Given the description of an element on the screen output the (x, y) to click on. 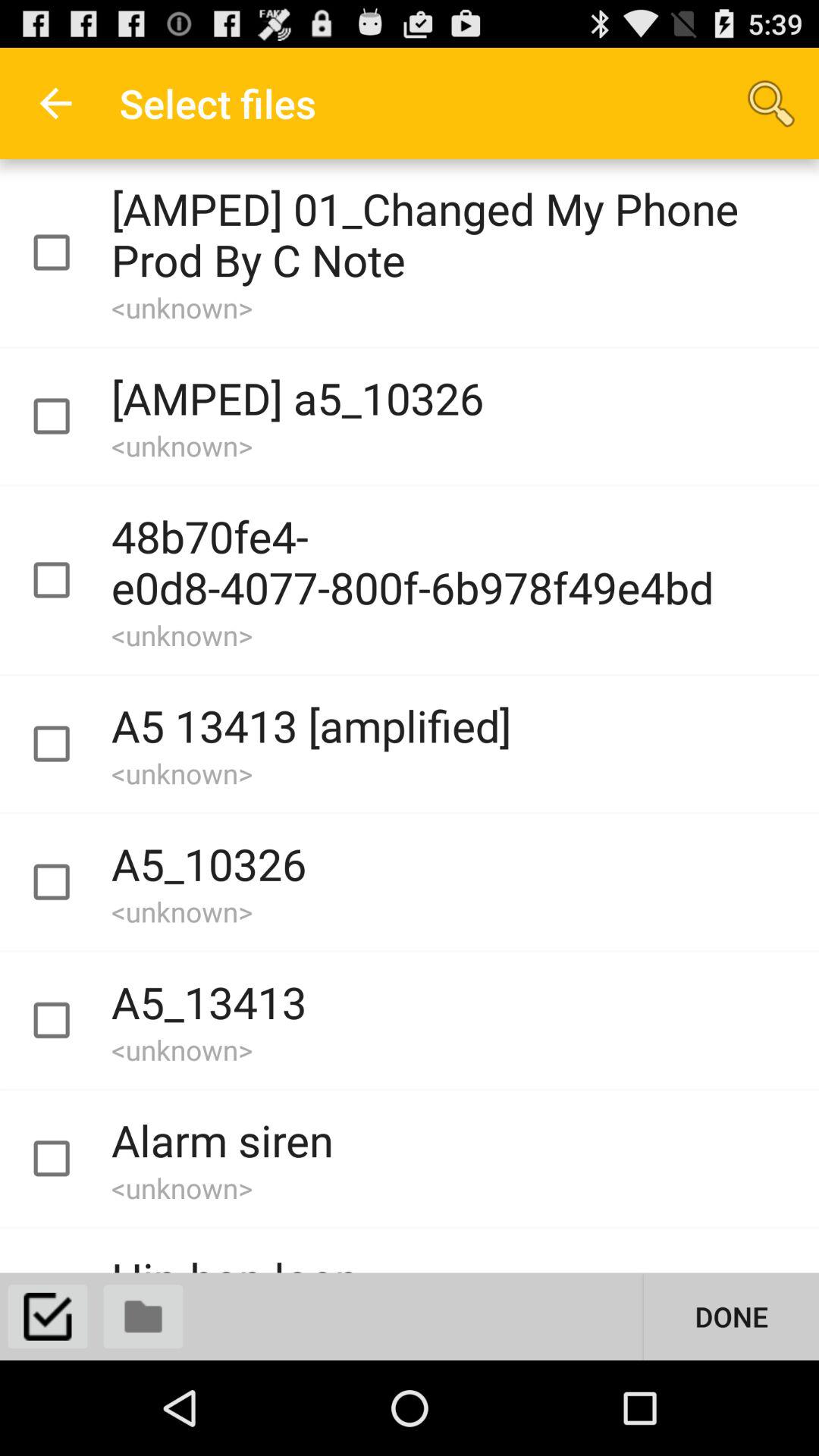
jump to done button (731, 1316)
